Given the description of an element on the screen output the (x, y) to click on. 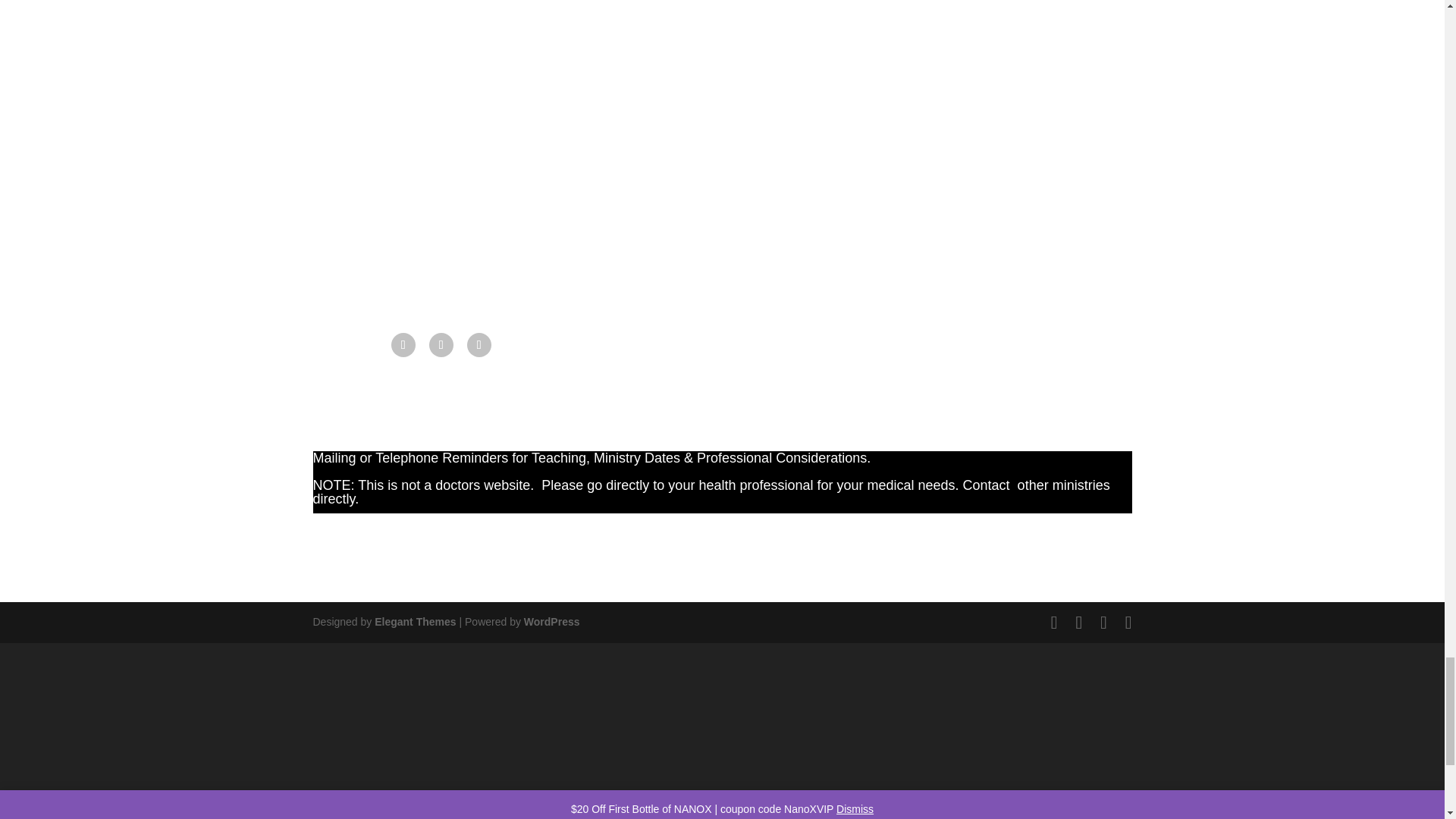
Follow on X (440, 344)
Follow on Facebook (402, 344)
Follow on LinkedIn (479, 344)
Premium WordPress Themes (414, 621)
